Given the description of an element on the screen output the (x, y) to click on. 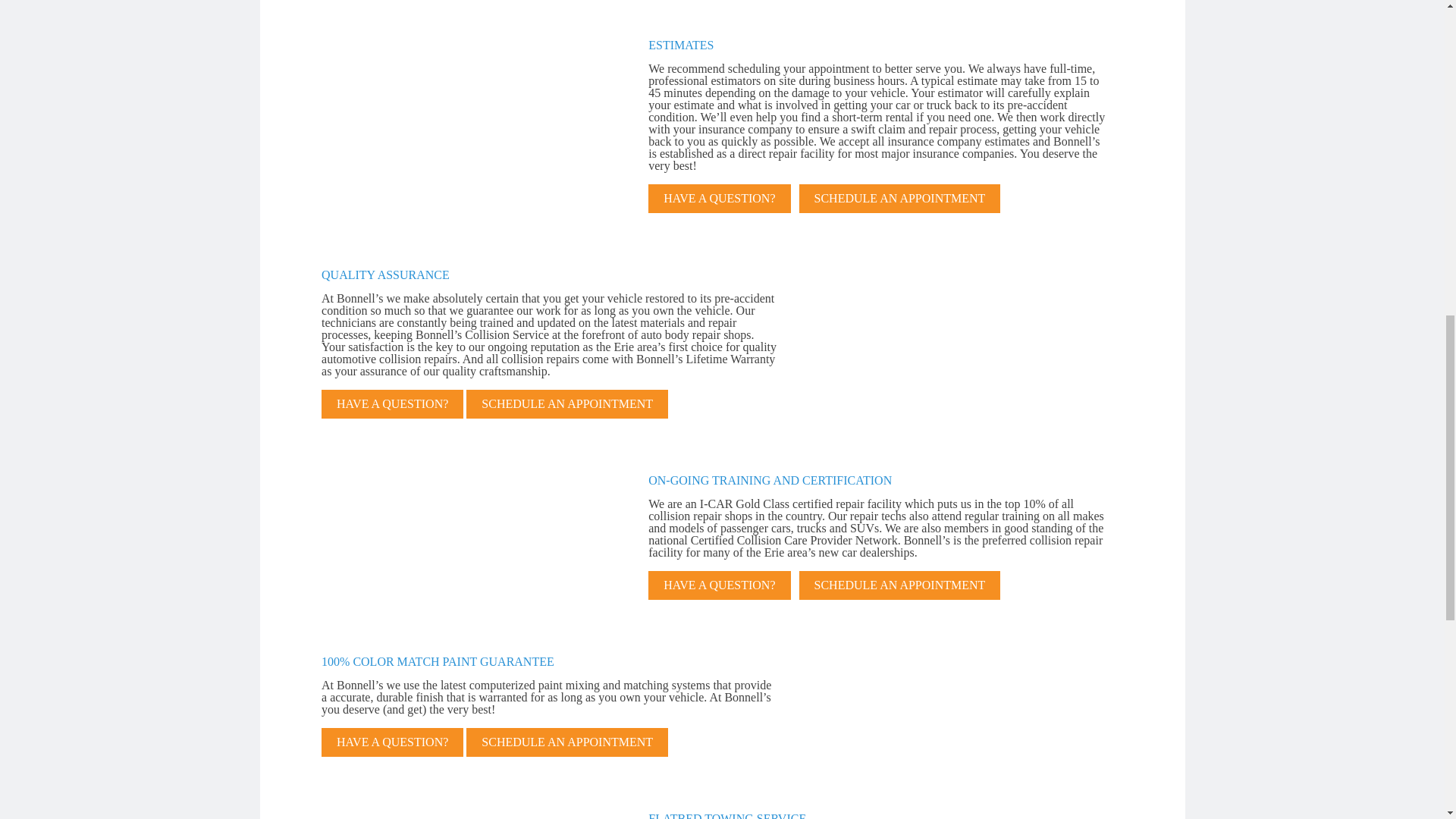
HAVE A QUESTION? (718, 198)
HAVE A QUESTION? (392, 403)
HAVE A QUESTION? (718, 584)
SCHEDULE AN APPOINTMENT (900, 198)
SCHEDULE AN APPOINTMENT (566, 403)
